Given the description of an element on the screen output the (x, y) to click on. 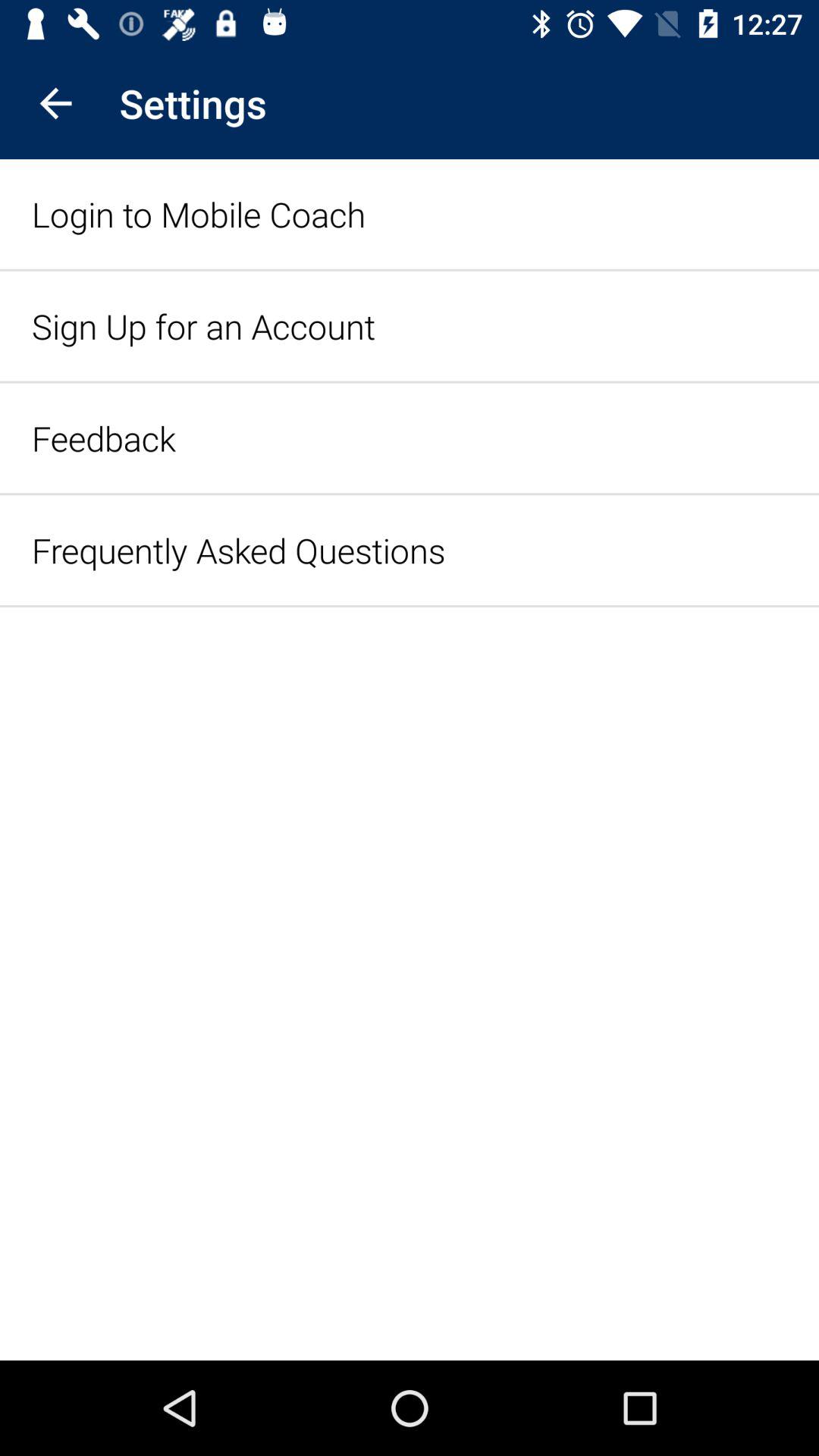
press login to mobile icon (198, 214)
